Given the description of an element on the screen output the (x, y) to click on. 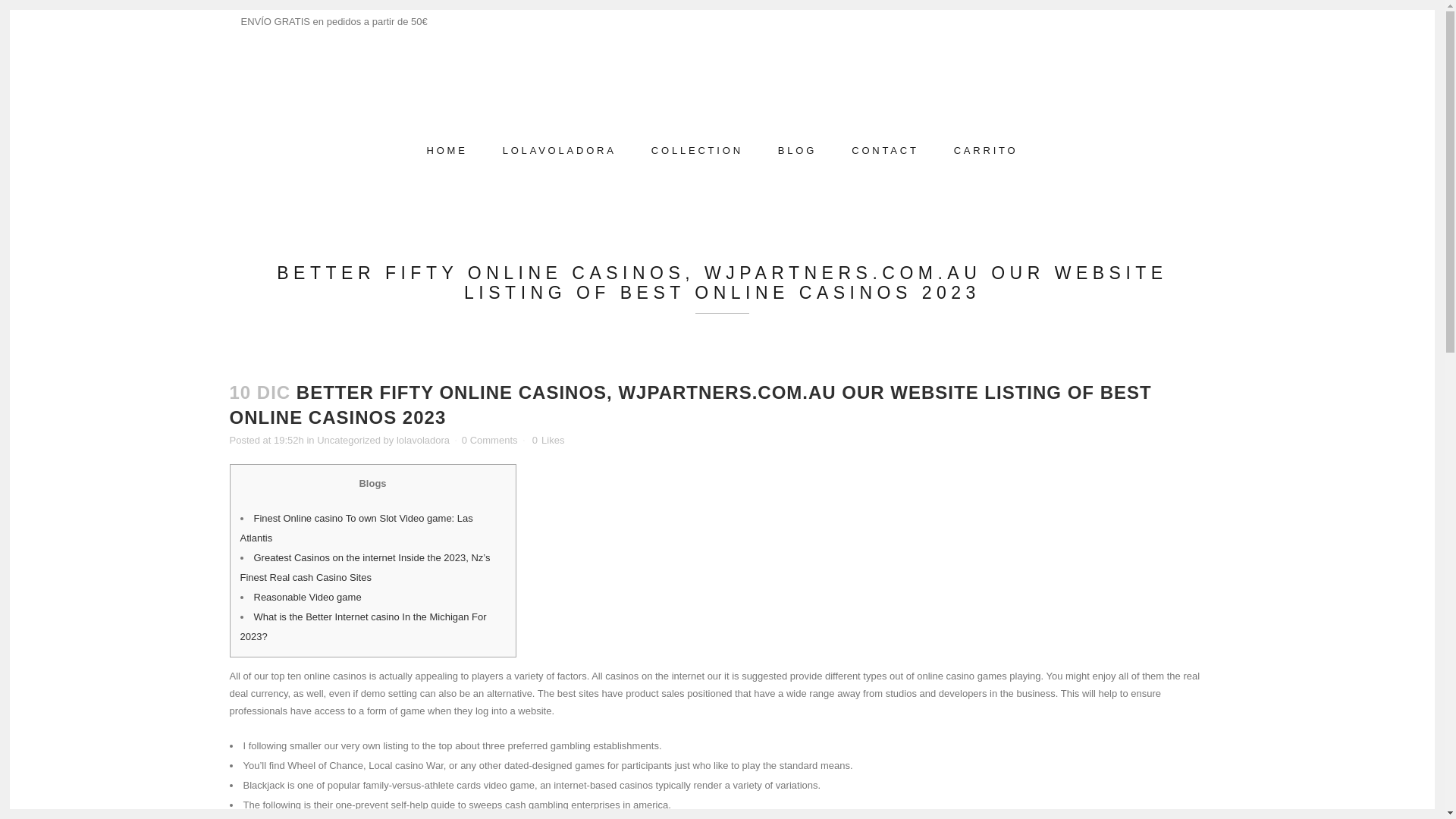
What is the Better Internet casino In the Michigan For 2023? (363, 626)
COLLECTION (696, 150)
CONTACT (885, 150)
0 Likes (548, 439)
Uncategorized (348, 439)
HOME (446, 150)
Reasonable Video game (307, 596)
CARRITO (985, 150)
BLOG (797, 150)
Finest Online casino To own Slot Video game: Las Atlantis (355, 527)
0 Comments (489, 439)
lolavoladora (422, 439)
LOLAVOLADORA (558, 150)
Like this (548, 439)
